Given the description of an element on the screen output the (x, y) to click on. 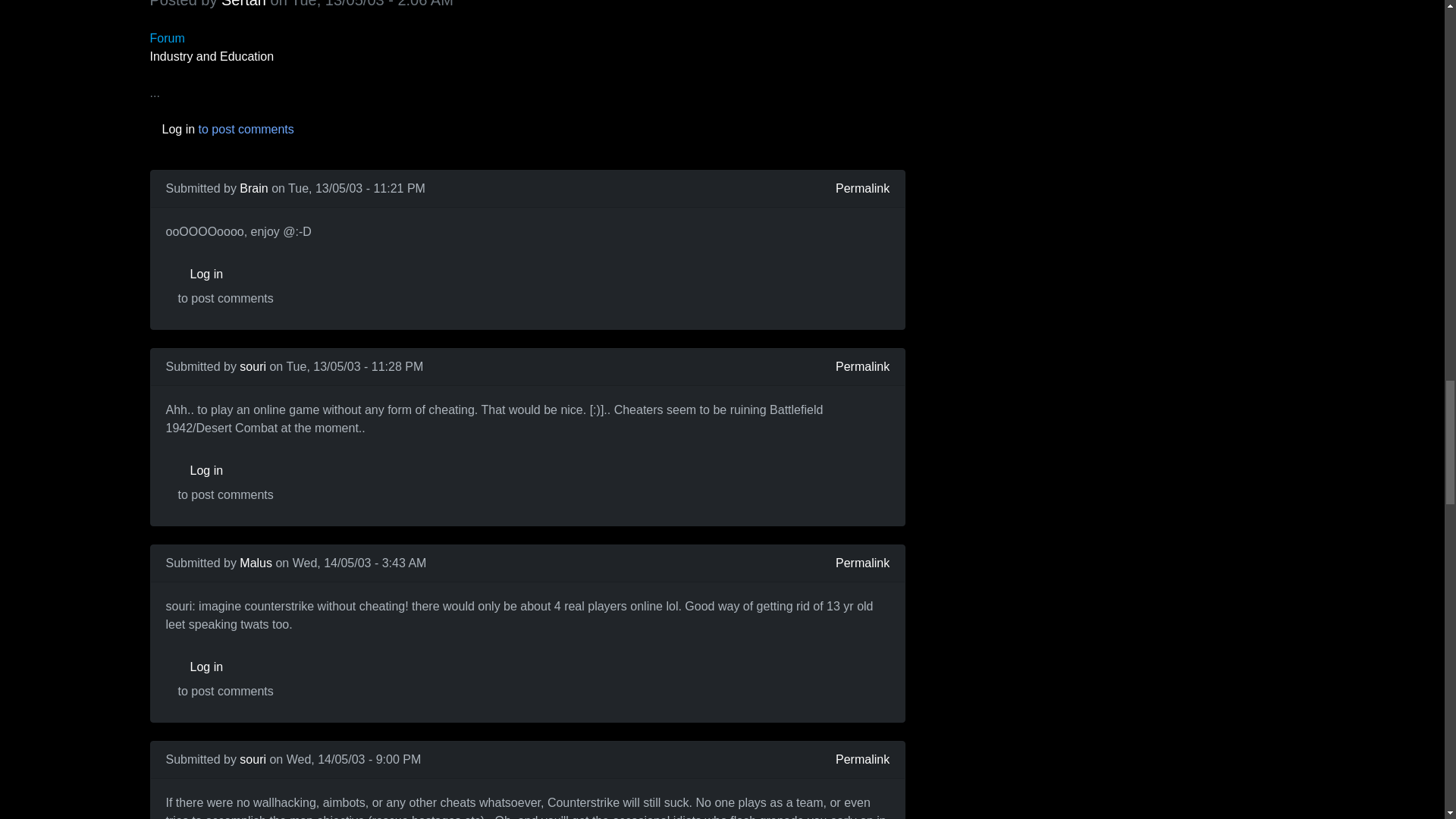
View user profile. (256, 562)
View user profile. (253, 366)
Tuesday, 13 May, 2003 - 2:06 AM (371, 4)
View user profile. (253, 758)
View user profile. (243, 4)
View user profile. (253, 187)
